Given the description of an element on the screen output the (x, y) to click on. 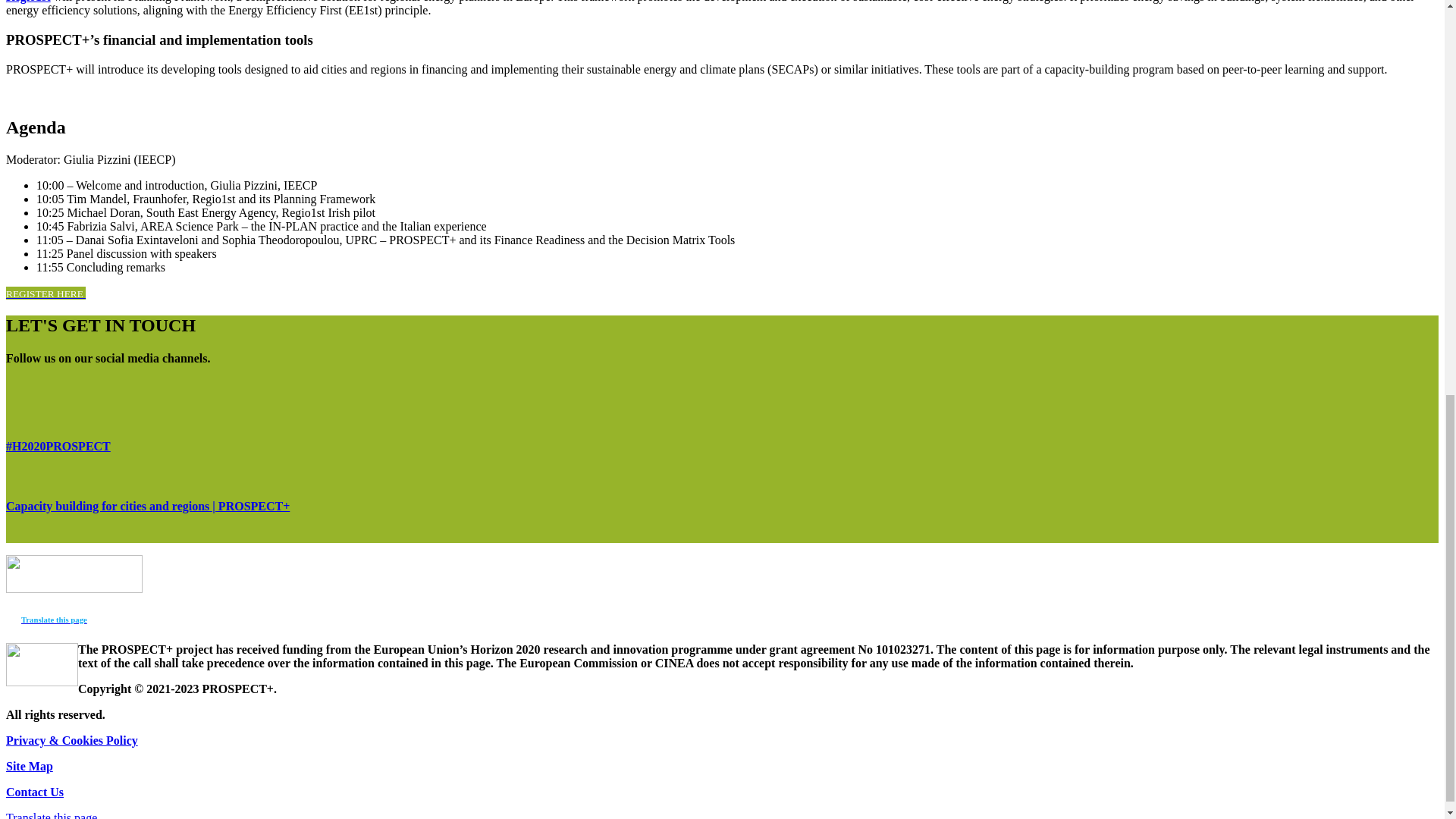
Site Map (28, 766)
Contact Us (34, 791)
Translate this page (54, 619)
REGISTER HERE  (45, 292)
Regio1st (27, 1)
